Given the description of an element on the screen output the (x, y) to click on. 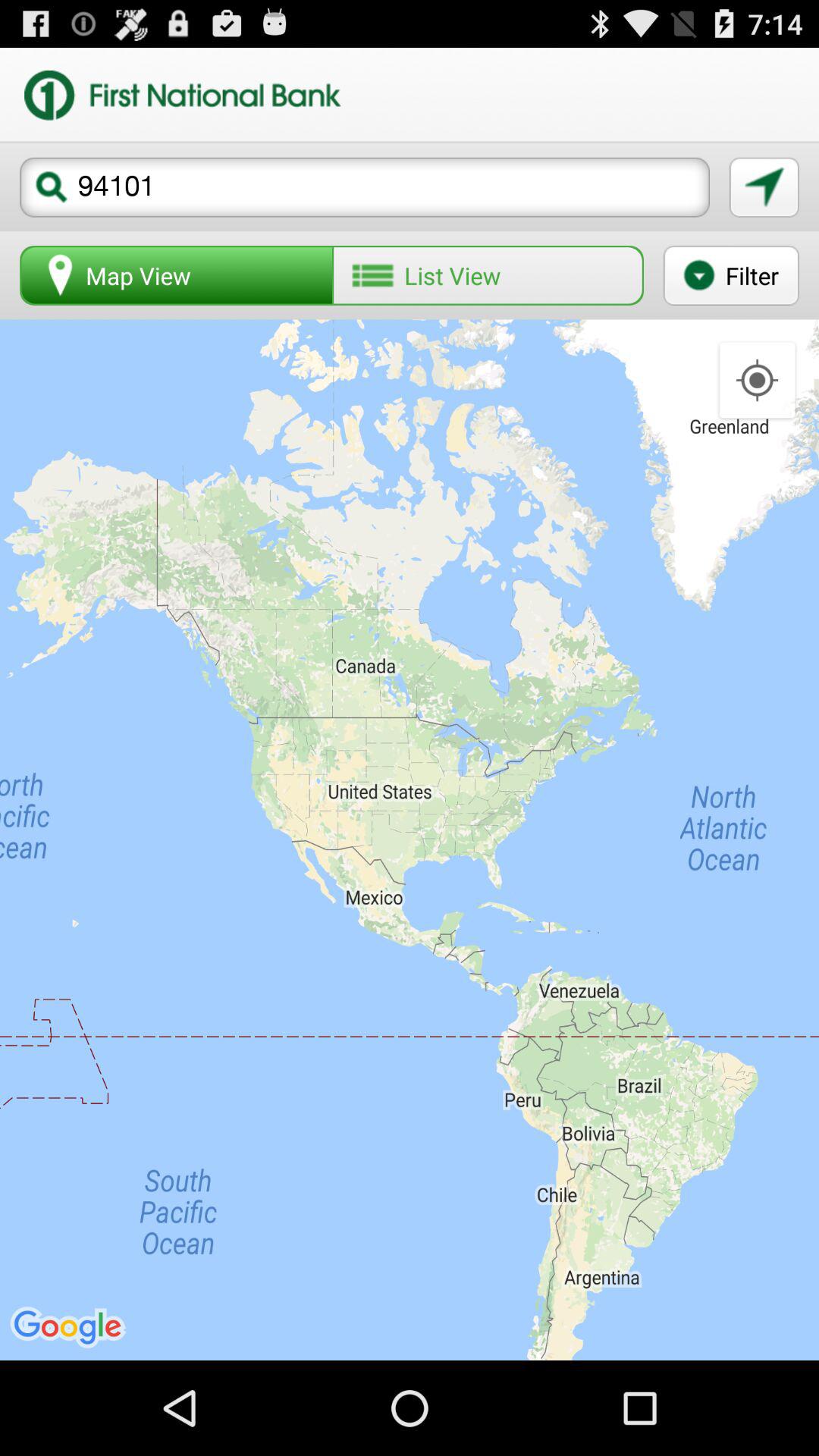
get directions (764, 187)
